Given the description of an element on the screen output the (x, y) to click on. 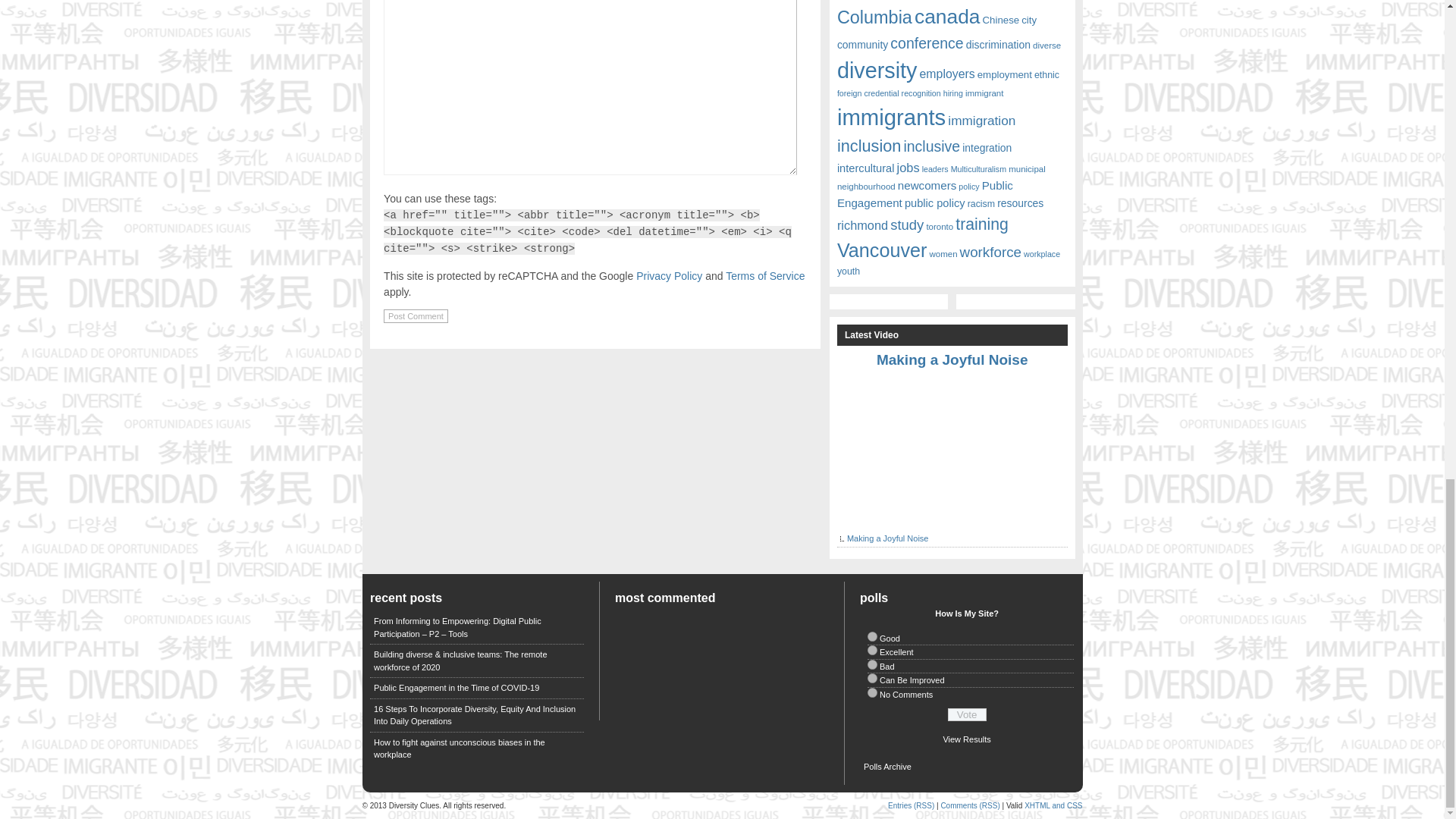
View Results Of This Poll (966, 738)
View Post (951, 359)
3 (872, 664)
Post Comment (416, 315)
   Vote    (967, 714)
5 (872, 692)
1 (872, 636)
4 (872, 678)
2 (872, 650)
